Given the description of an element on the screen output the (x, y) to click on. 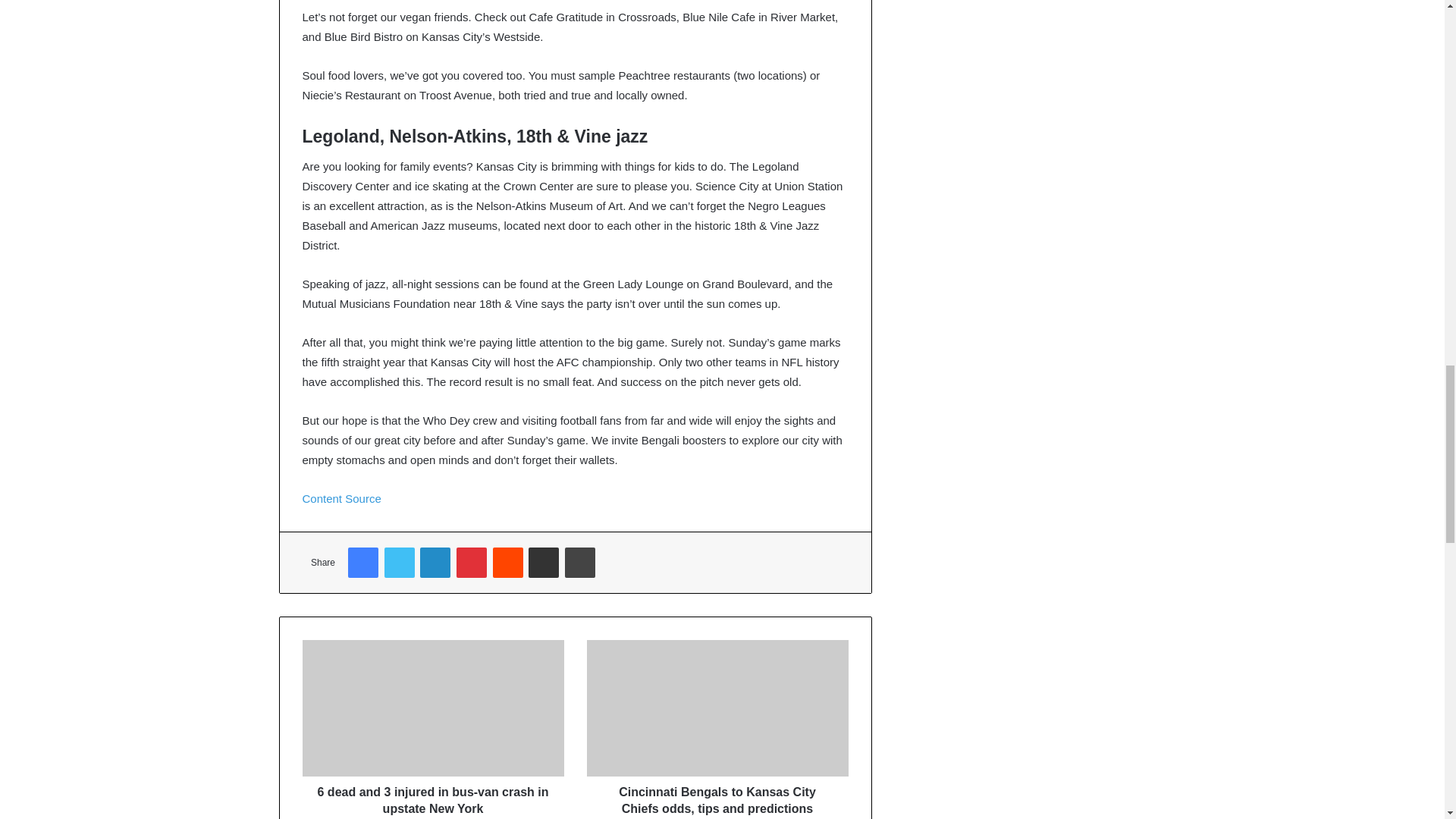
6 dead and 3 injured in bus-van crash in upstate New York (432, 796)
LinkedIn (434, 562)
Reddit (507, 562)
Twitter (399, 562)
Facebook (362, 562)
Pinterest (471, 562)
LinkedIn (434, 562)
Facebook (362, 562)
Twitter (399, 562)
Share via Email (543, 562)
